Given the description of an element on the screen output the (x, y) to click on. 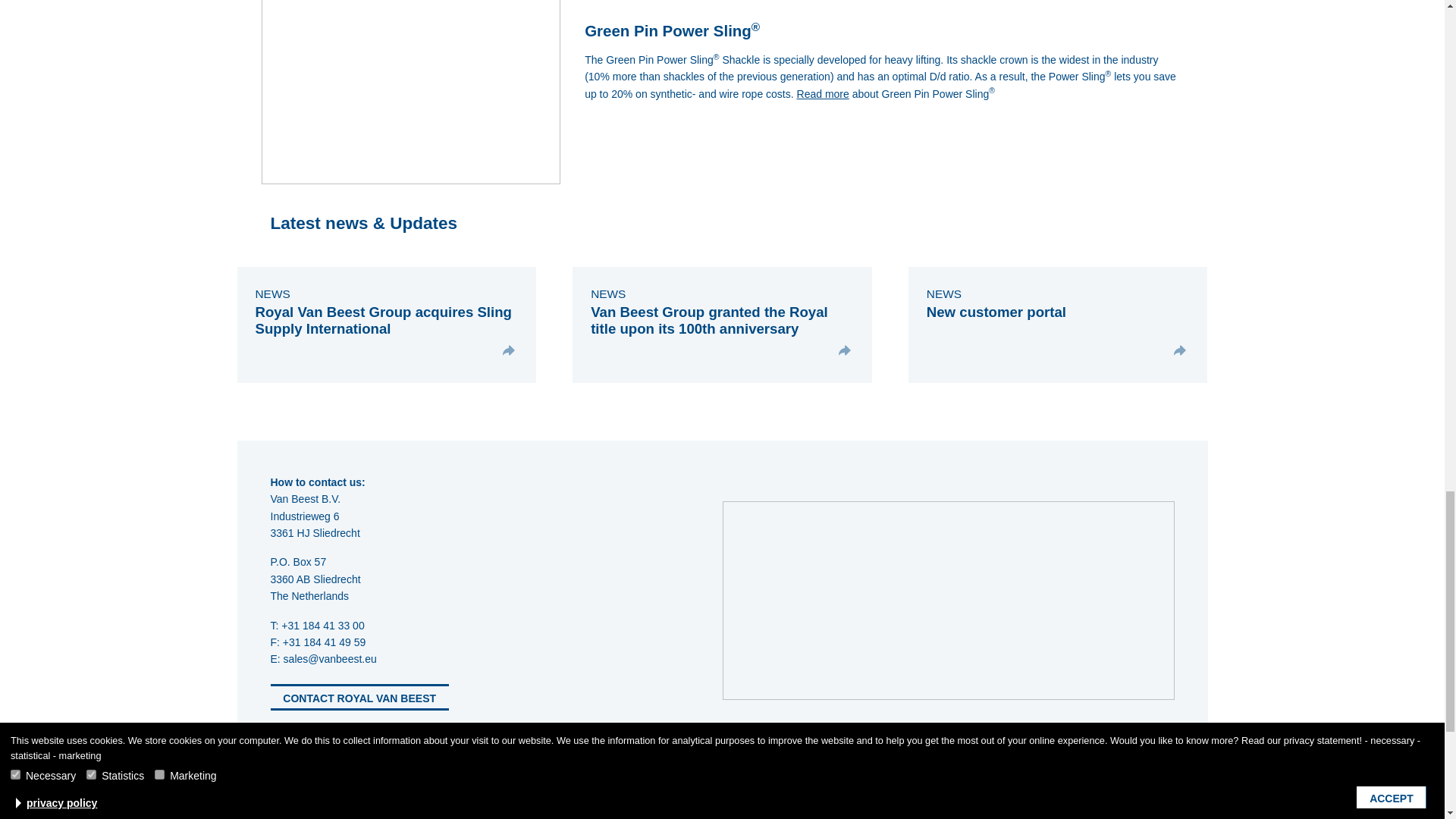
Read more (822, 93)
CONTACT ROYAL VAN BEEST (358, 696)
Royal Van Beest Group acquires Sling Supply International (382, 319)
New customer portal (995, 311)
